Given the description of an element on the screen output the (x, y) to click on. 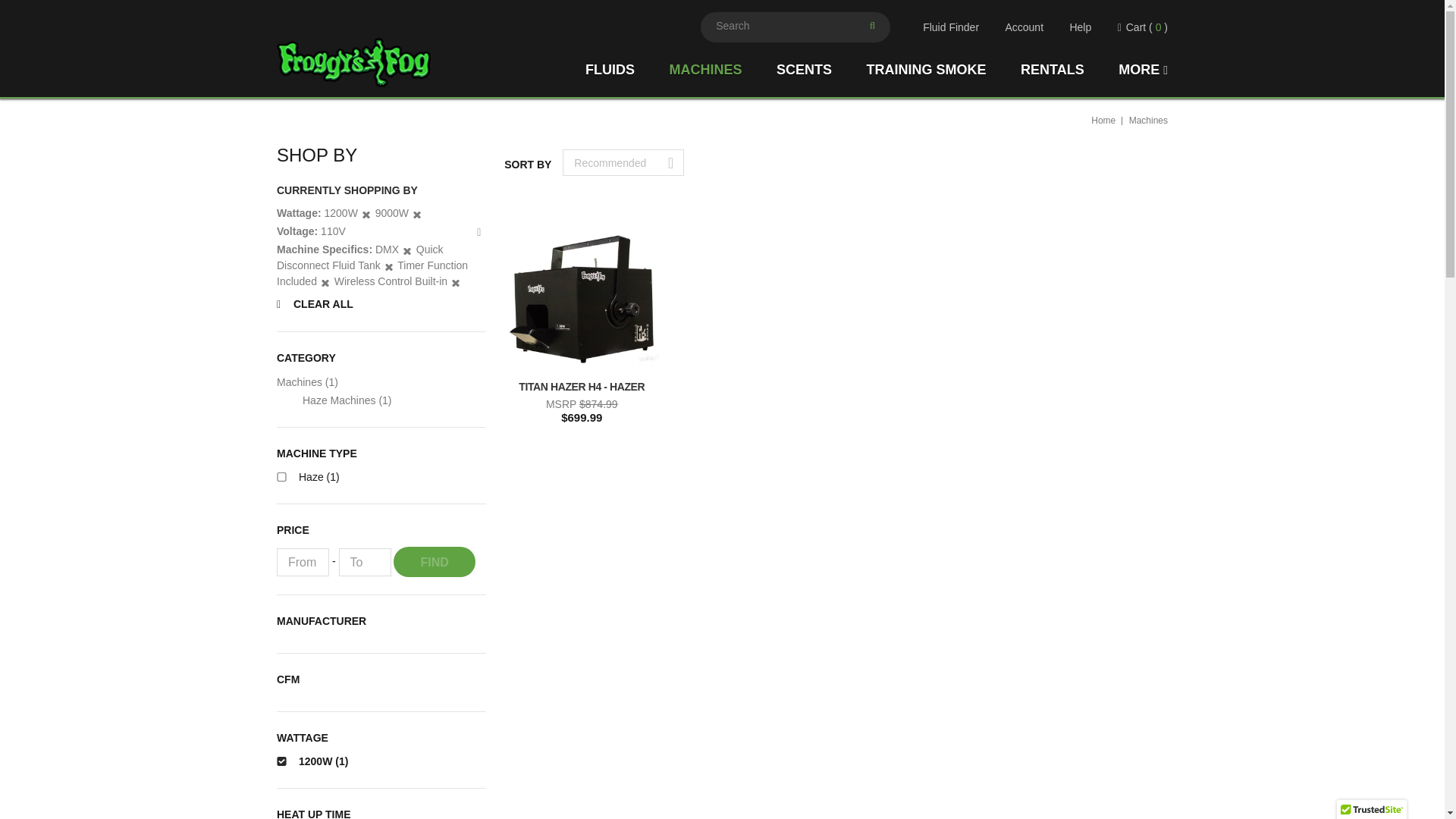
Froggysfog (353, 61)
From (302, 561)
To (363, 561)
Account (1023, 27)
Go to Home Page (1102, 120)
Help (1079, 27)
Find (433, 562)
FLUIDS (627, 69)
Remove This Item (481, 230)
Recommended (623, 162)
MACHINES (722, 69)
  Fluid Finder (947, 27)
